Given the description of an element on the screen output the (x, y) to click on. 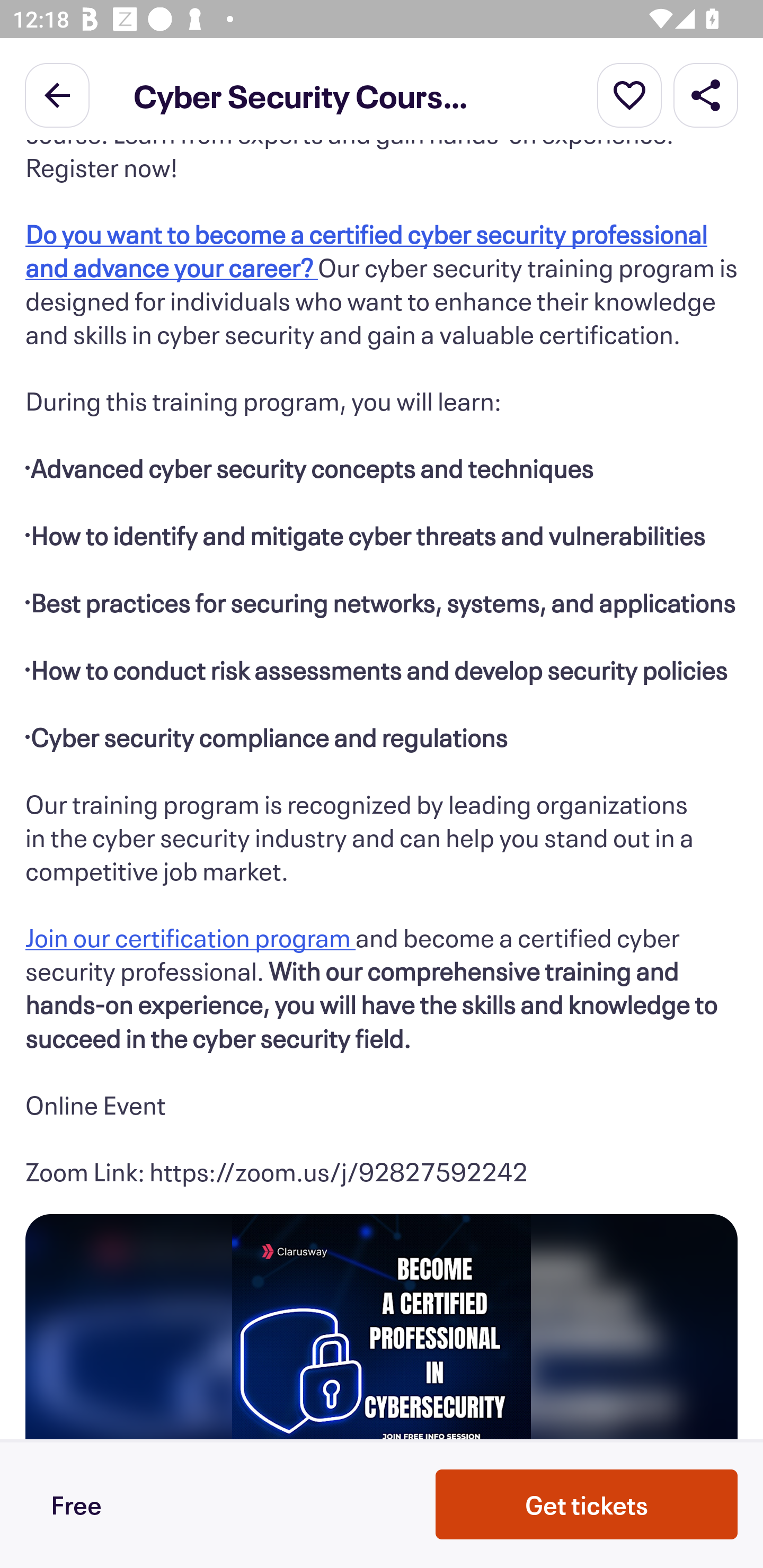
Back (57, 94)
More (629, 94)
Share (705, 94)
Get tickets (586, 1504)
